Given the description of an element on the screen output the (x, y) to click on. 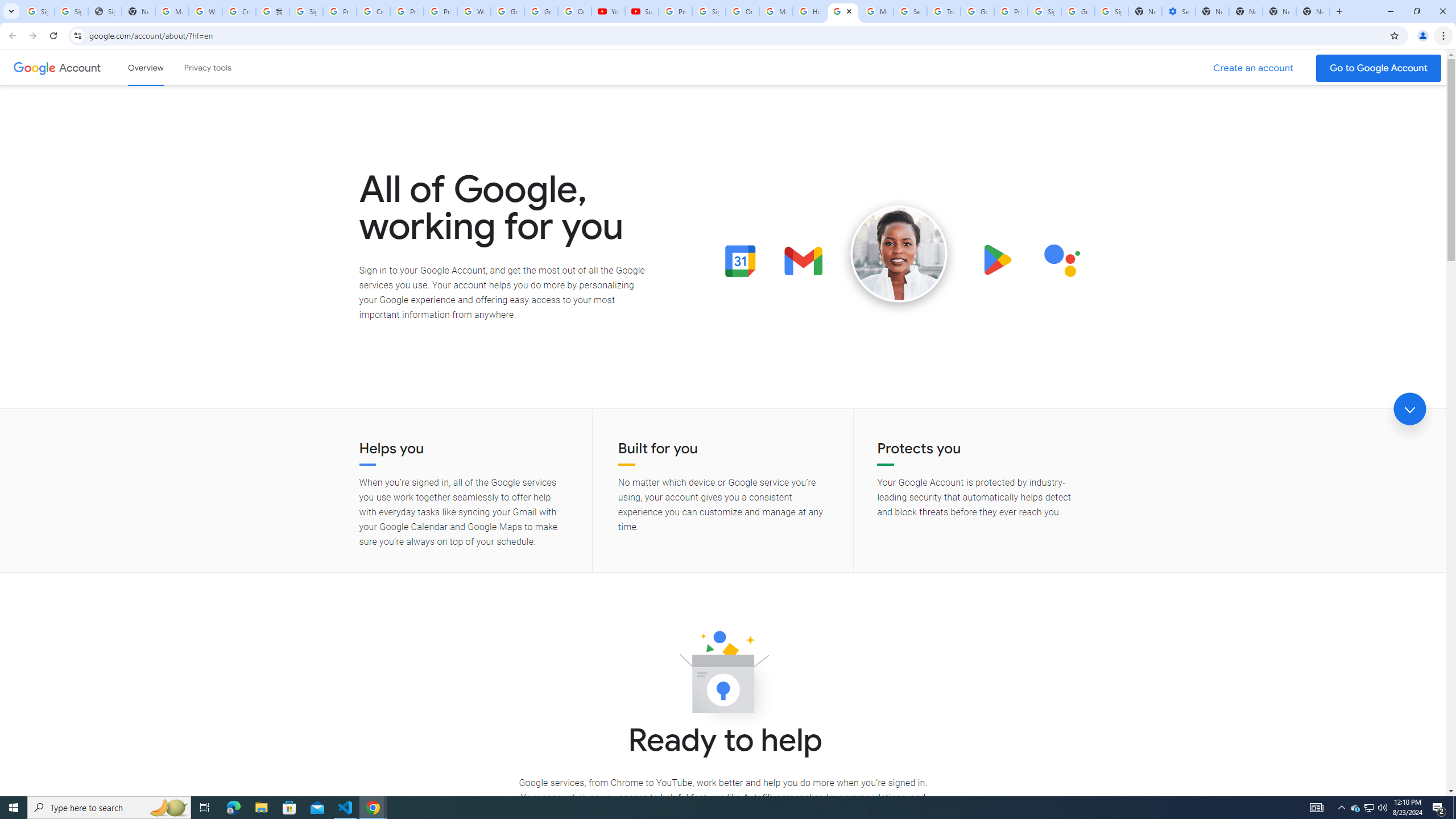
Google Account (80, 67)
Create your Google Account (238, 11)
Sign in - Google Accounts (305, 11)
Google Ads - Sign in (976, 11)
YouTube (608, 11)
